Given the description of an element on the screen output the (x, y) to click on. 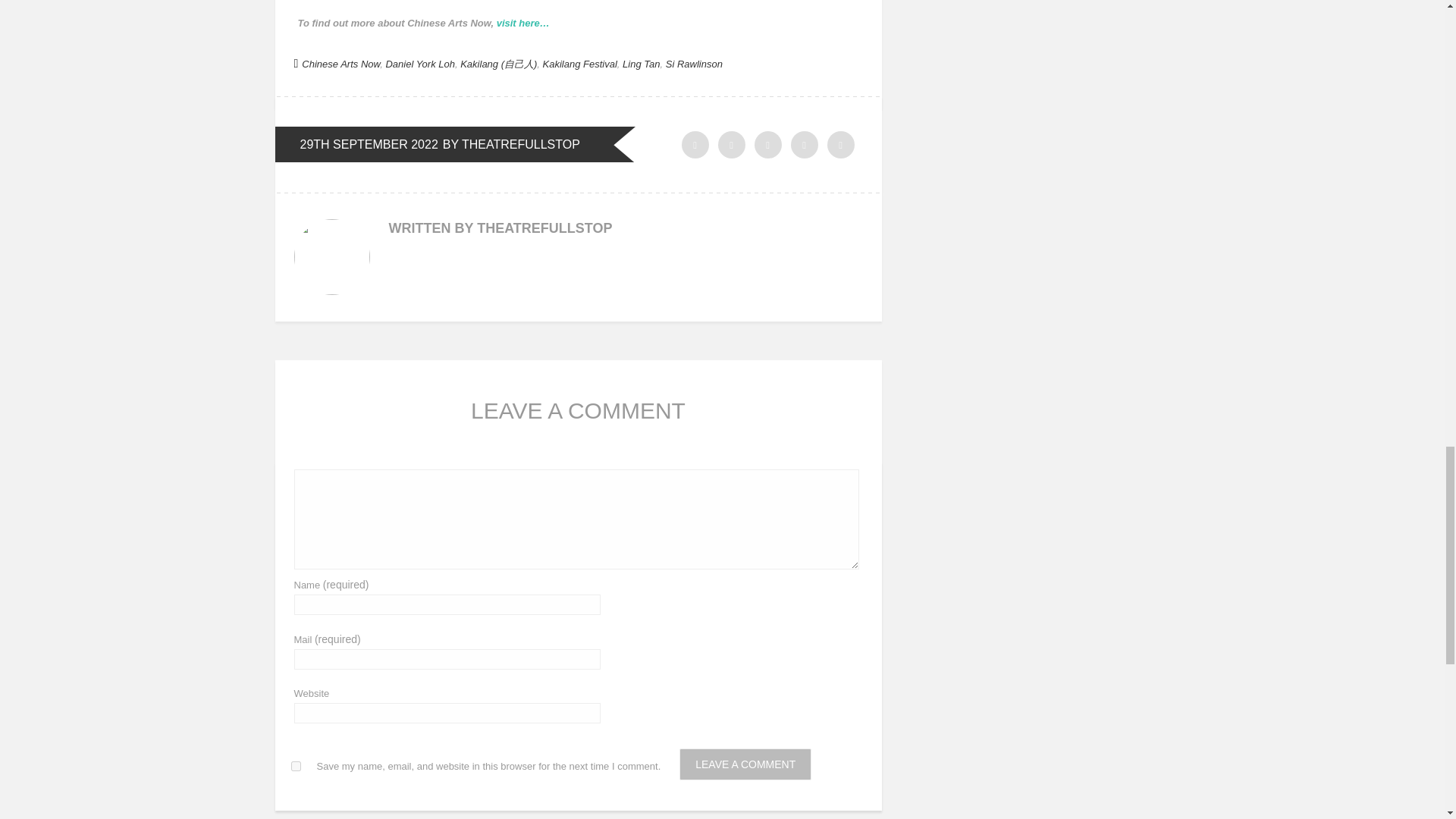
Leave a Comment (744, 764)
yes (295, 766)
